Given the description of an element on the screen output the (x, y) to click on. 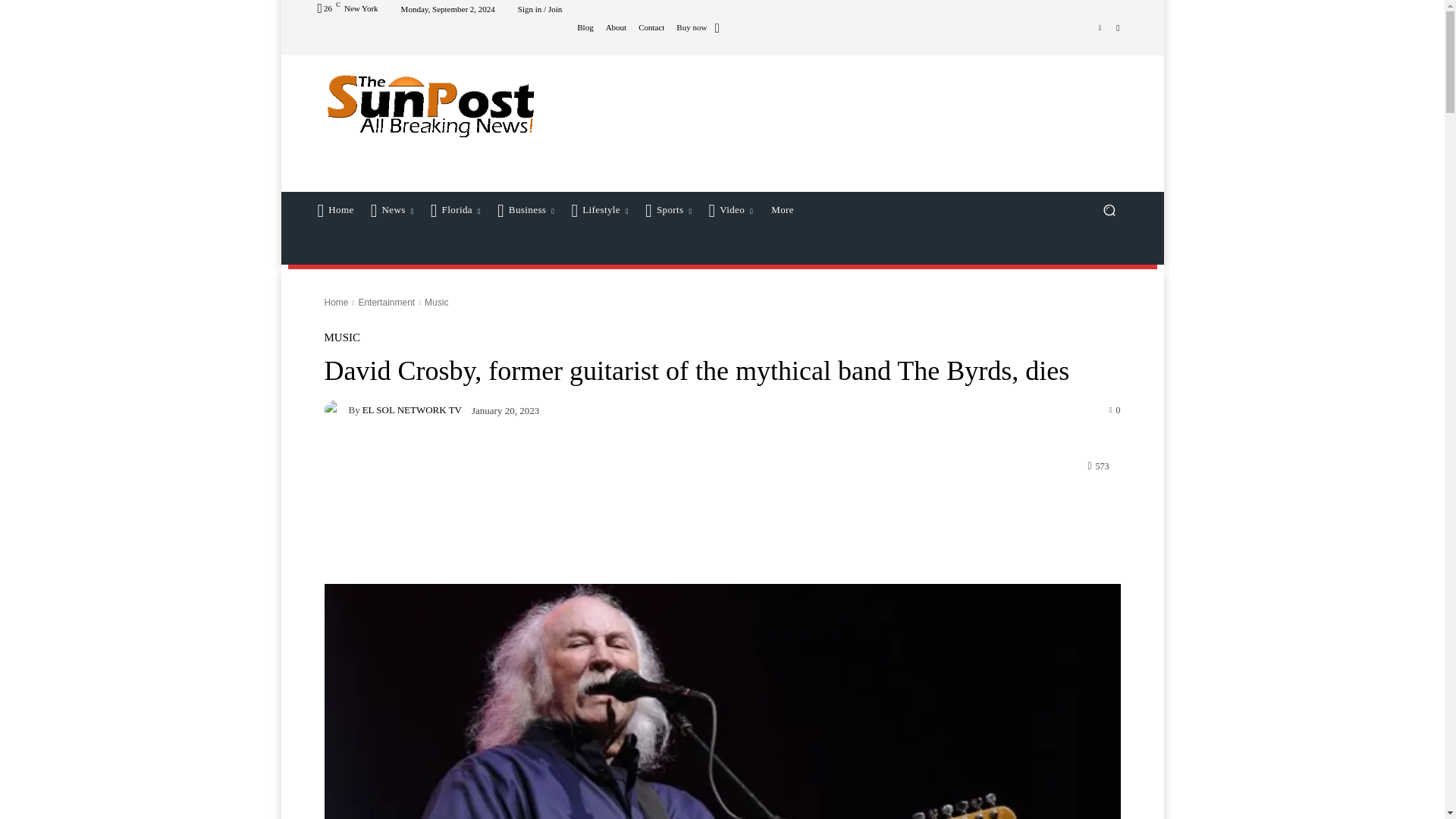
Contact (651, 27)
Youtube (1117, 27)
About (616, 27)
Blog (584, 27)
Vimeo (1099, 27)
